Given the description of an element on the screen output the (x, y) to click on. 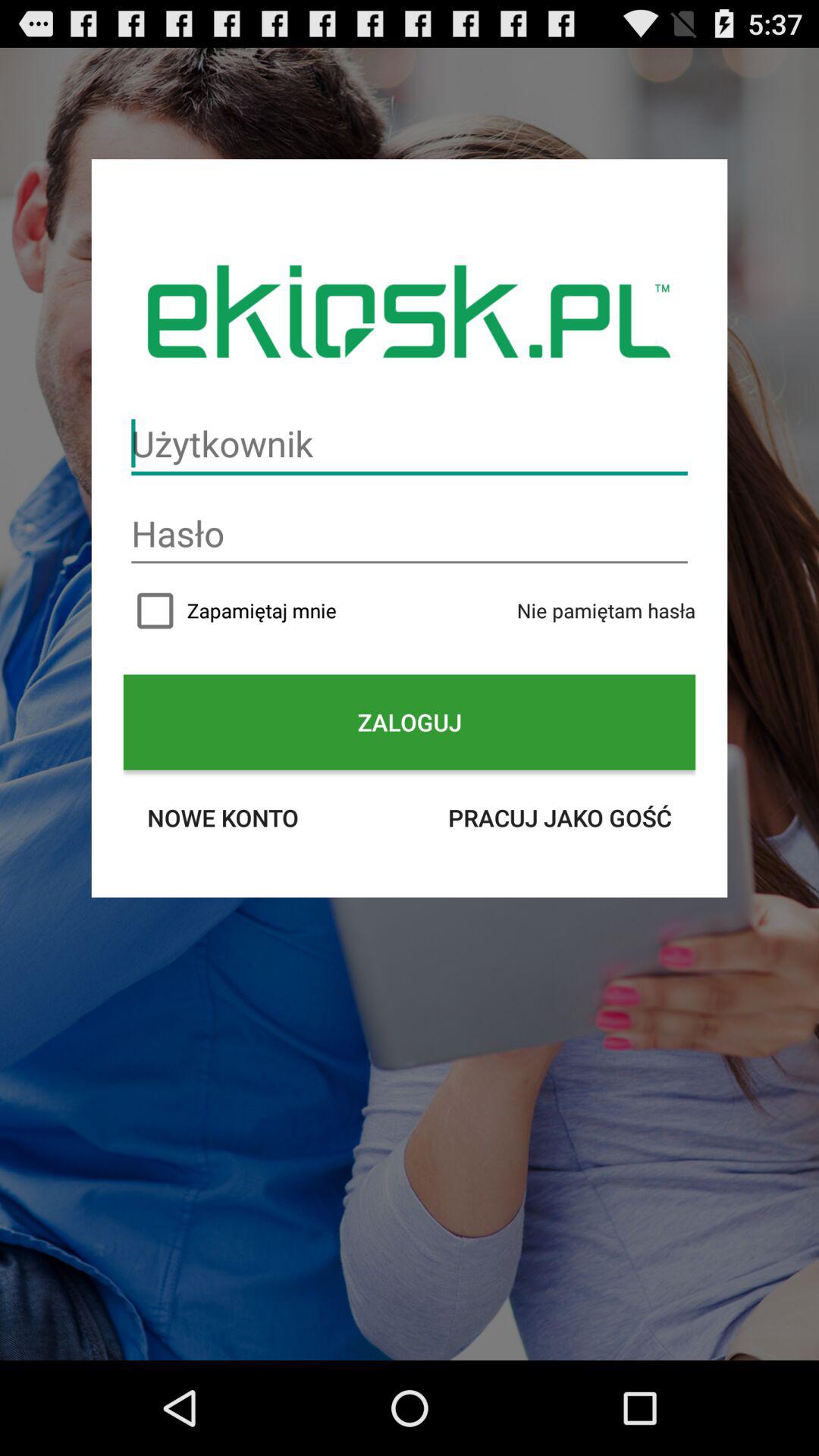
turn on icon below zaloguj item (559, 817)
